Given the description of an element on the screen output the (x, y) to click on. 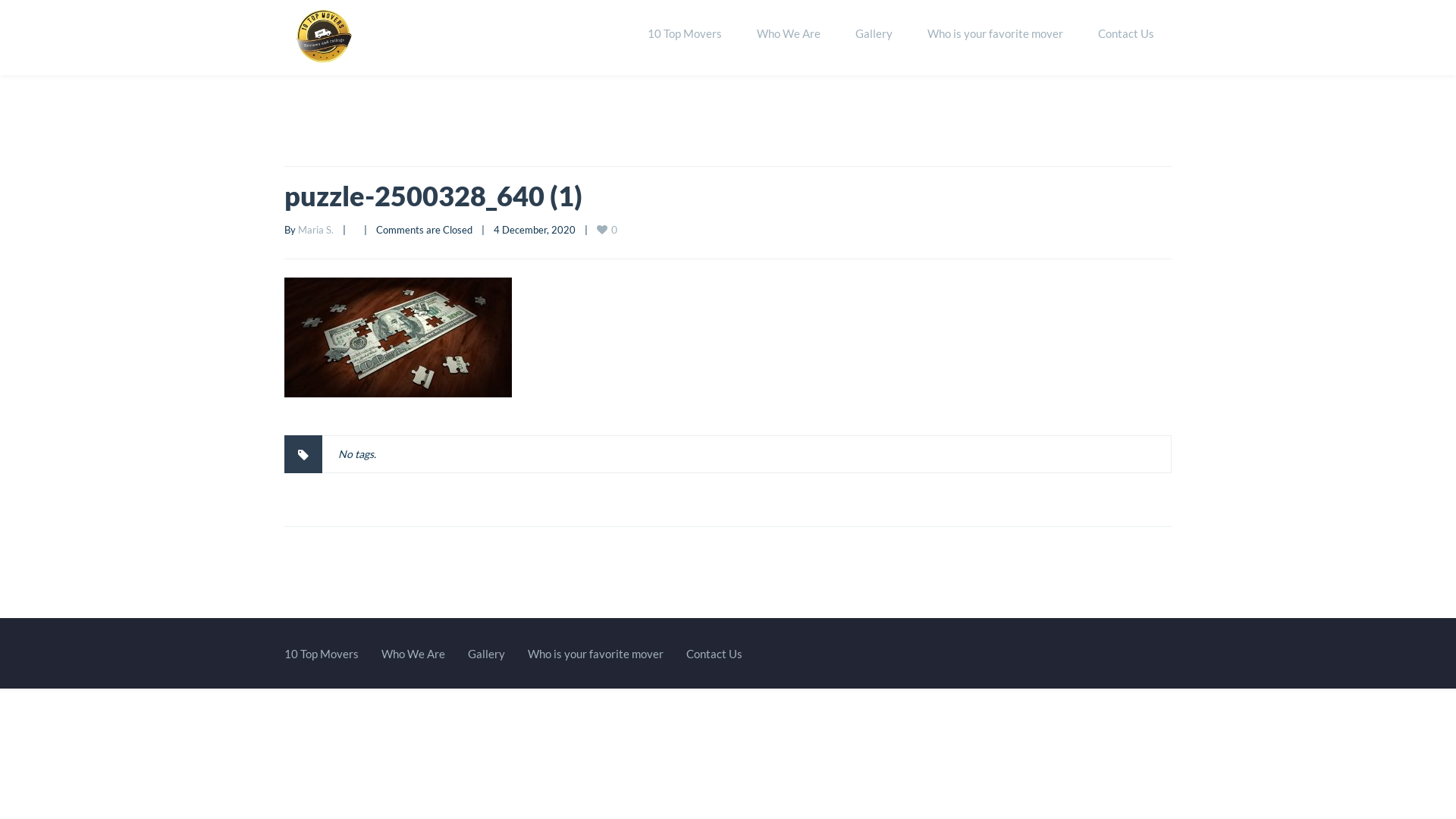
0  Element type: text (607, 228)
Who We Are Element type: text (788, 34)
puzzle-2500328_640 (1) Element type: text (433, 195)
Who is your favorite mover Element type: text (595, 653)
10 Top Movers Element type: text (321, 653)
Maria S. Element type: text (315, 229)
Gallery Element type: text (486, 653)
Gallery Element type: text (873, 34)
10 Top Movers Element type: text (684, 34)
Contact Us Element type: text (1125, 34)
Contact Us Element type: text (714, 653)
Who is your favorite mover Element type: text (995, 34)
Who We Are Element type: text (413, 653)
